Given the description of an element on the screen output the (x, y) to click on. 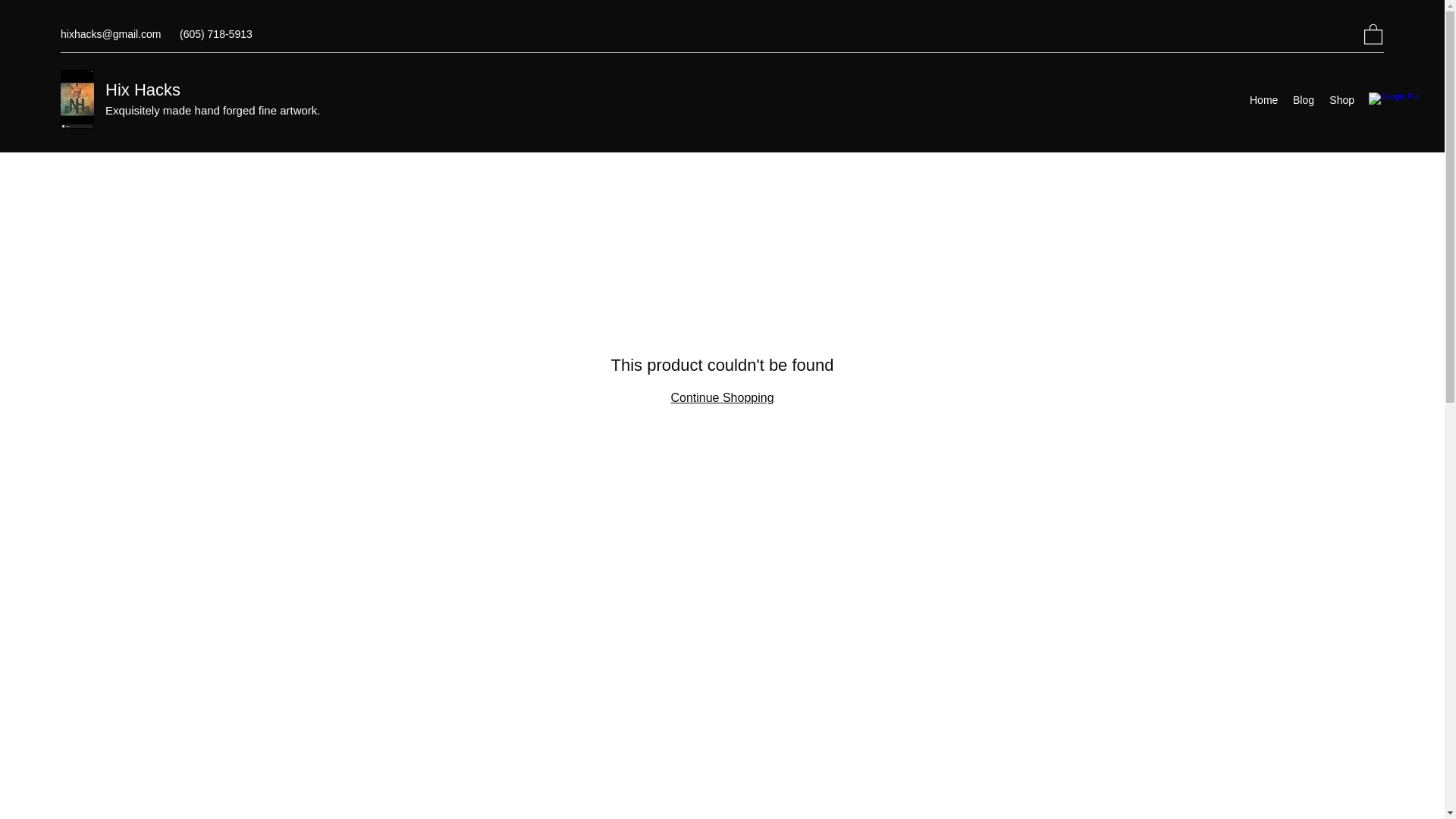
Continue Shopping (721, 397)
Blog (1303, 99)
Home (1263, 99)
Shop (1341, 99)
Hix Hacks (142, 89)
